Given the description of an element on the screen output the (x, y) to click on. 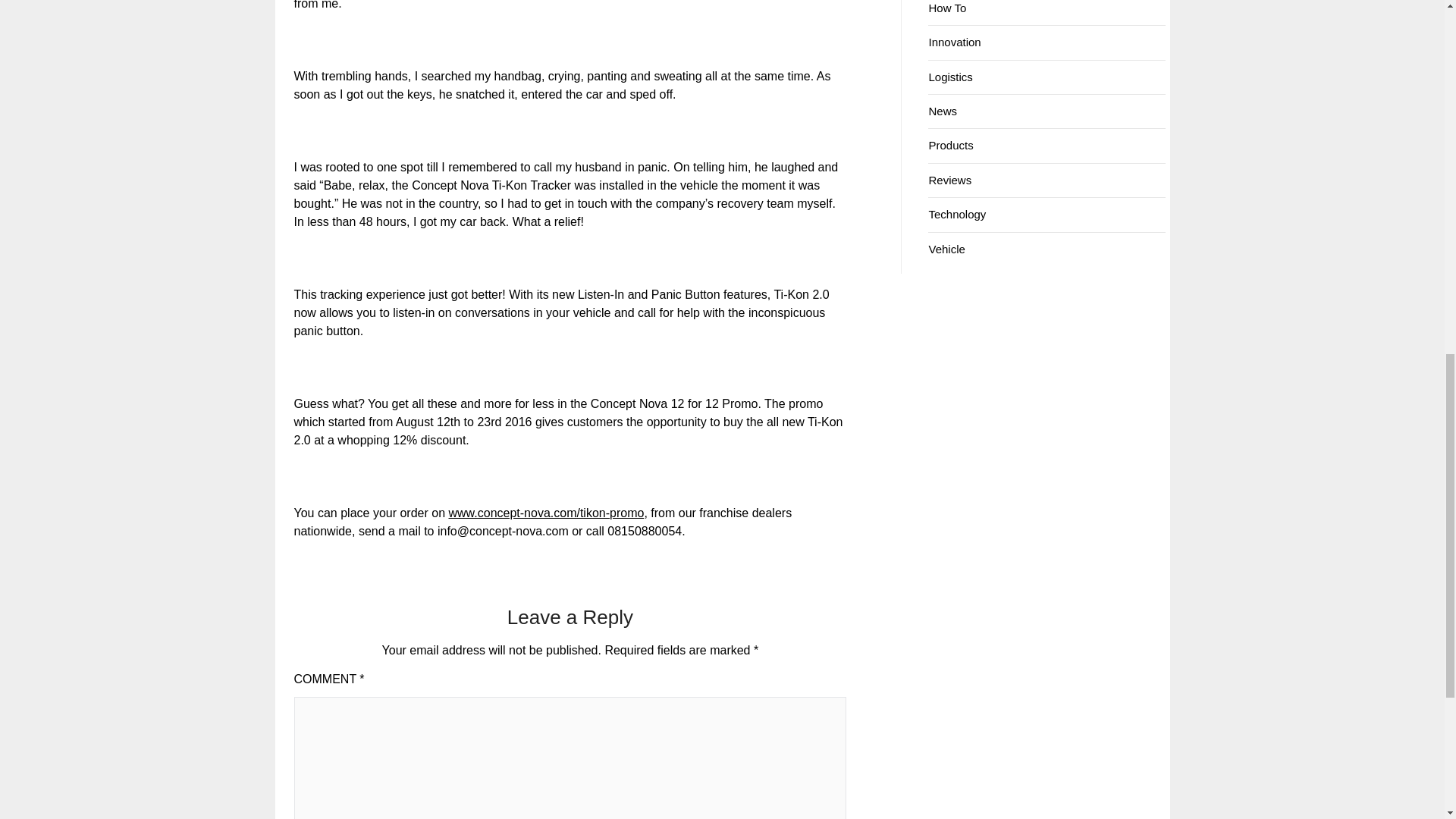
Vehicle (945, 248)
Technology (956, 214)
Logistics (950, 76)
Reviews (949, 179)
How To (947, 7)
Products (950, 144)
News (942, 110)
Innovation (953, 42)
